Given the description of an element on the screen output the (x, y) to click on. 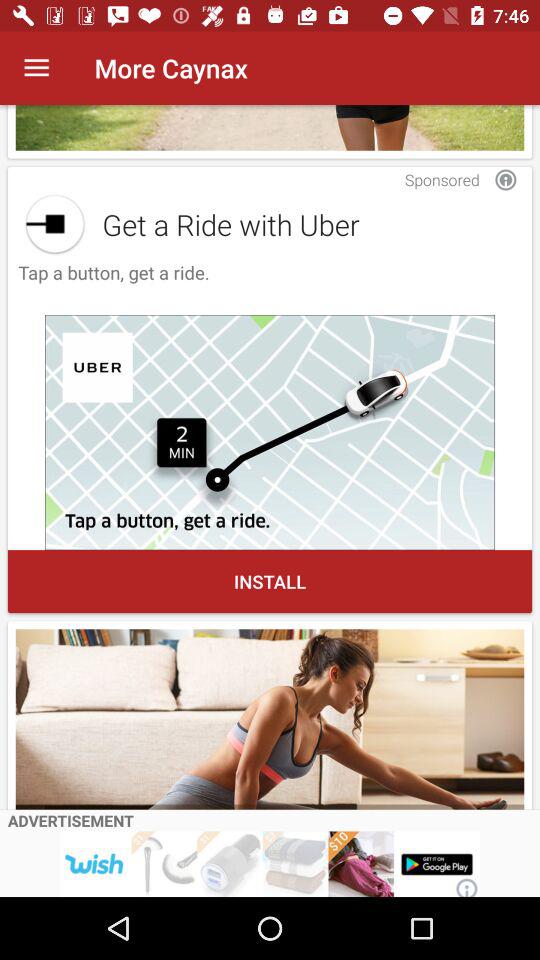
ride (269, 432)
